Given the description of an element on the screen output the (x, y) to click on. 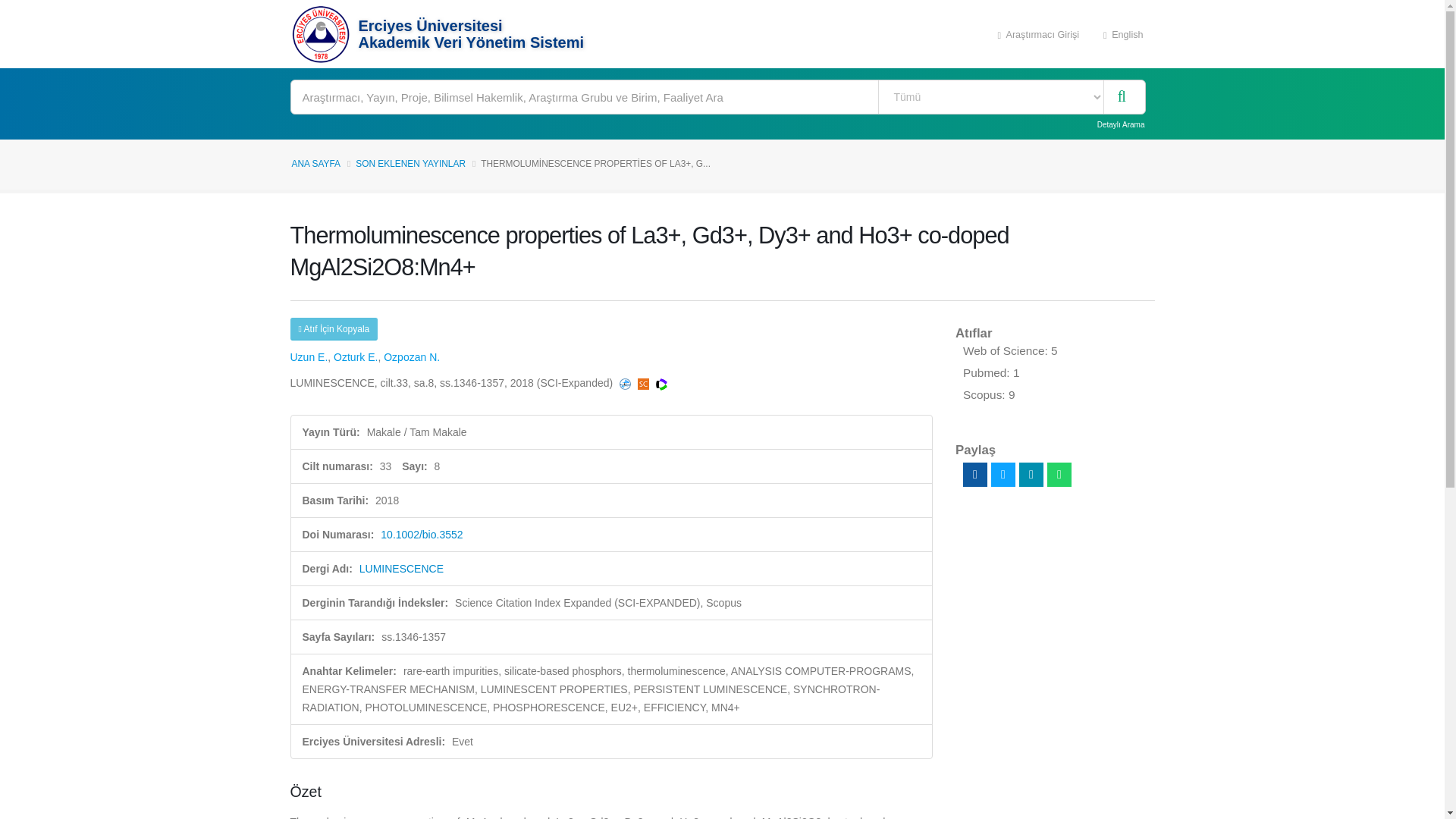
Ozturk E. (355, 357)
Ozpozan N. (411, 357)
LUMINESCENCE (401, 568)
ANA SAYFA (315, 163)
SON EKLENEN YAYINLAR (410, 163)
English (1123, 33)
Erdem Uzun (308, 357)
Uzun E. (308, 357)
Esra Ozturk (355, 357)
